Given the description of an element on the screen output the (x, y) to click on. 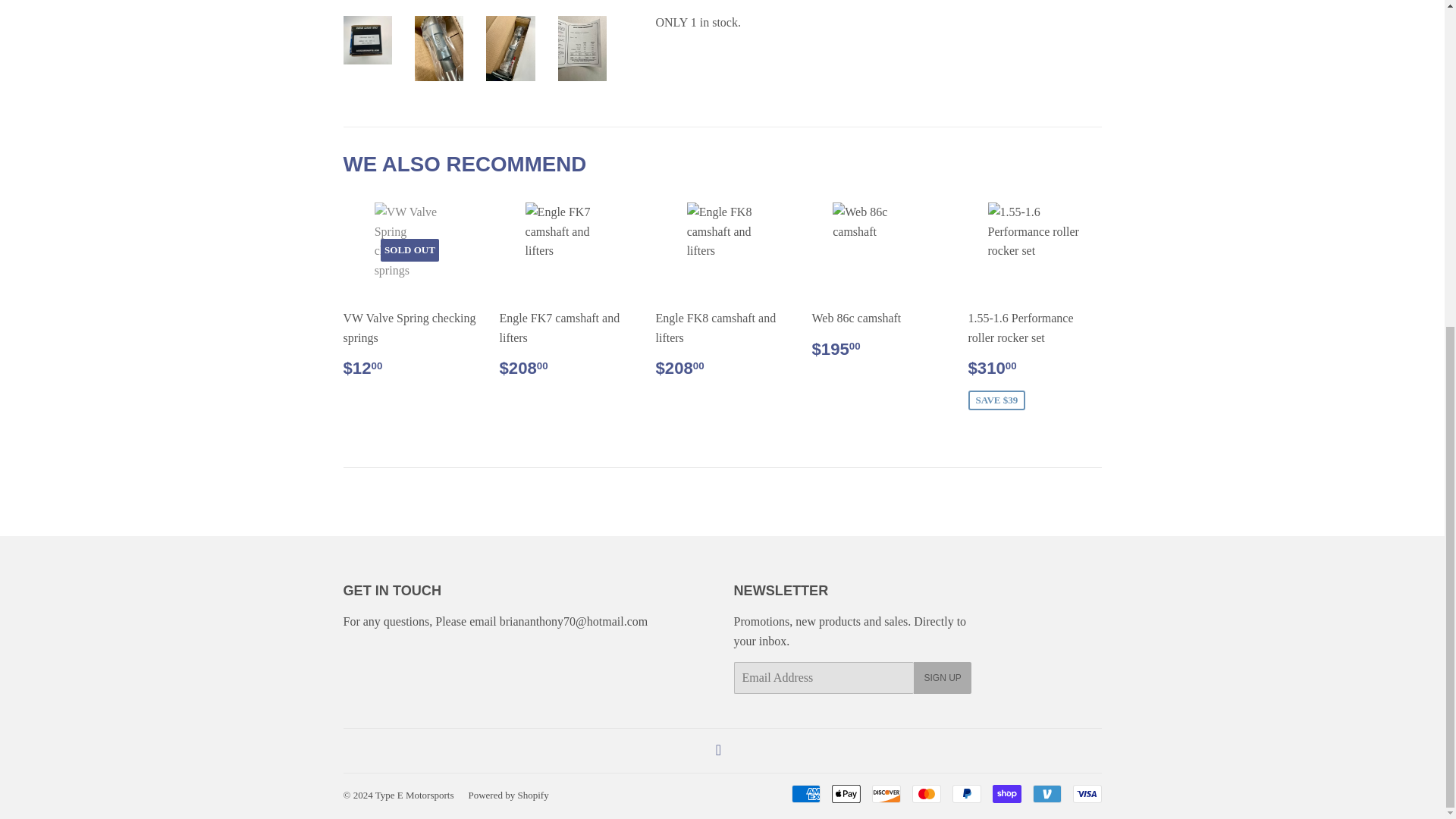
Venmo (1046, 793)
Apple Pay (845, 793)
Discover (886, 793)
Mastercard (925, 793)
American Express (806, 793)
PayPal (966, 793)
Visa (1085, 793)
Shop Pay (1005, 793)
